Given the description of an element on the screen output the (x, y) to click on. 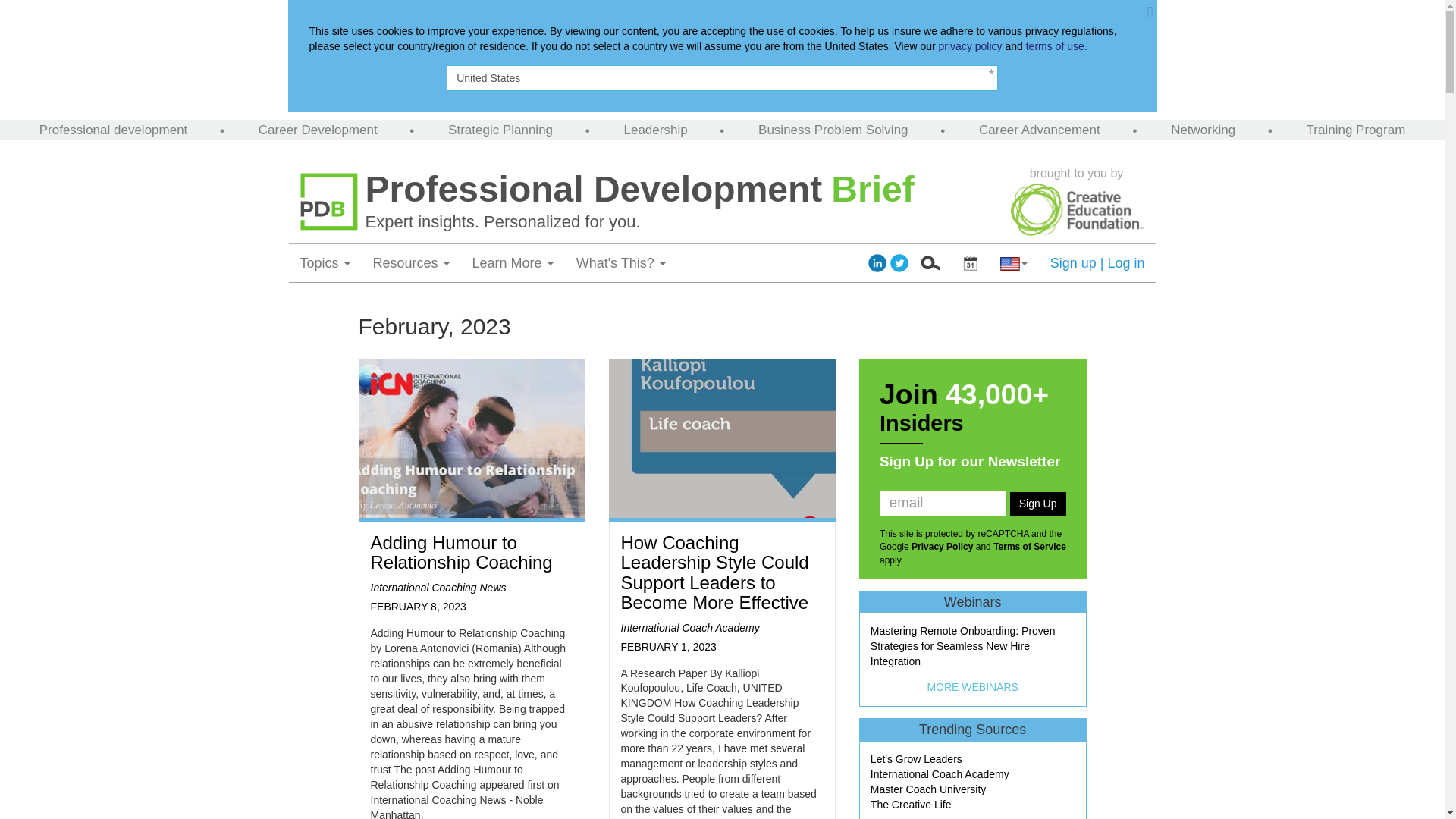
Business Problem Solving (832, 129)
Training Program (1356, 129)
Career Development (318, 129)
United States (721, 77)
terms of use. (1056, 46)
Career Advancement (1039, 129)
Career Development (318, 129)
Professional Development Brief (683, 189)
Search (930, 262)
Strategic Planning (500, 129)
Leadership (655, 129)
Networking (1202, 129)
Business Problem Solving (832, 129)
Creative Education Foundation (1076, 209)
Training Program (1356, 129)
